Given the description of an element on the screen output the (x, y) to click on. 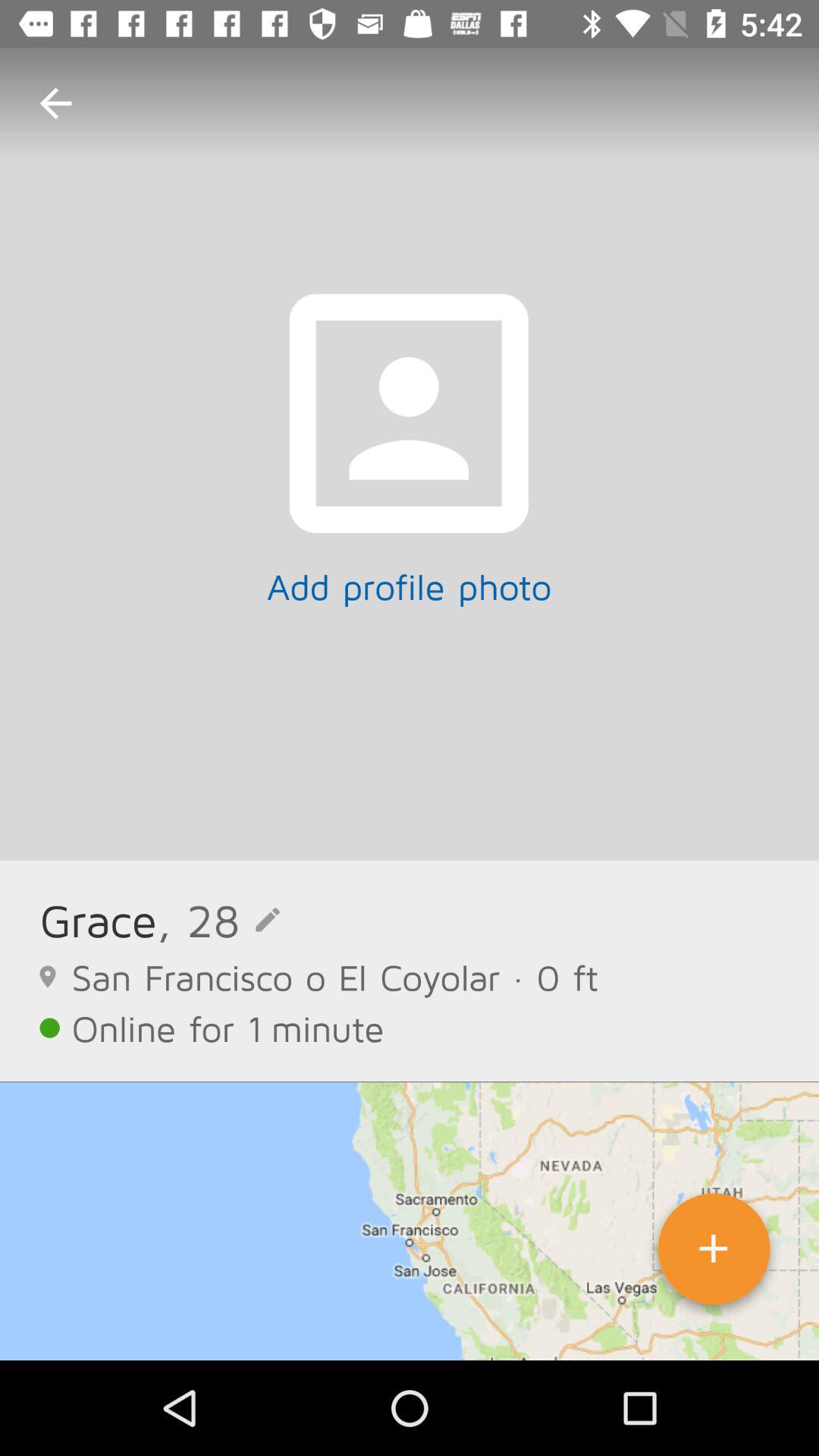
turn off item to the left of , 28 (97, 919)
